Given the description of an element on the screen output the (x, y) to click on. 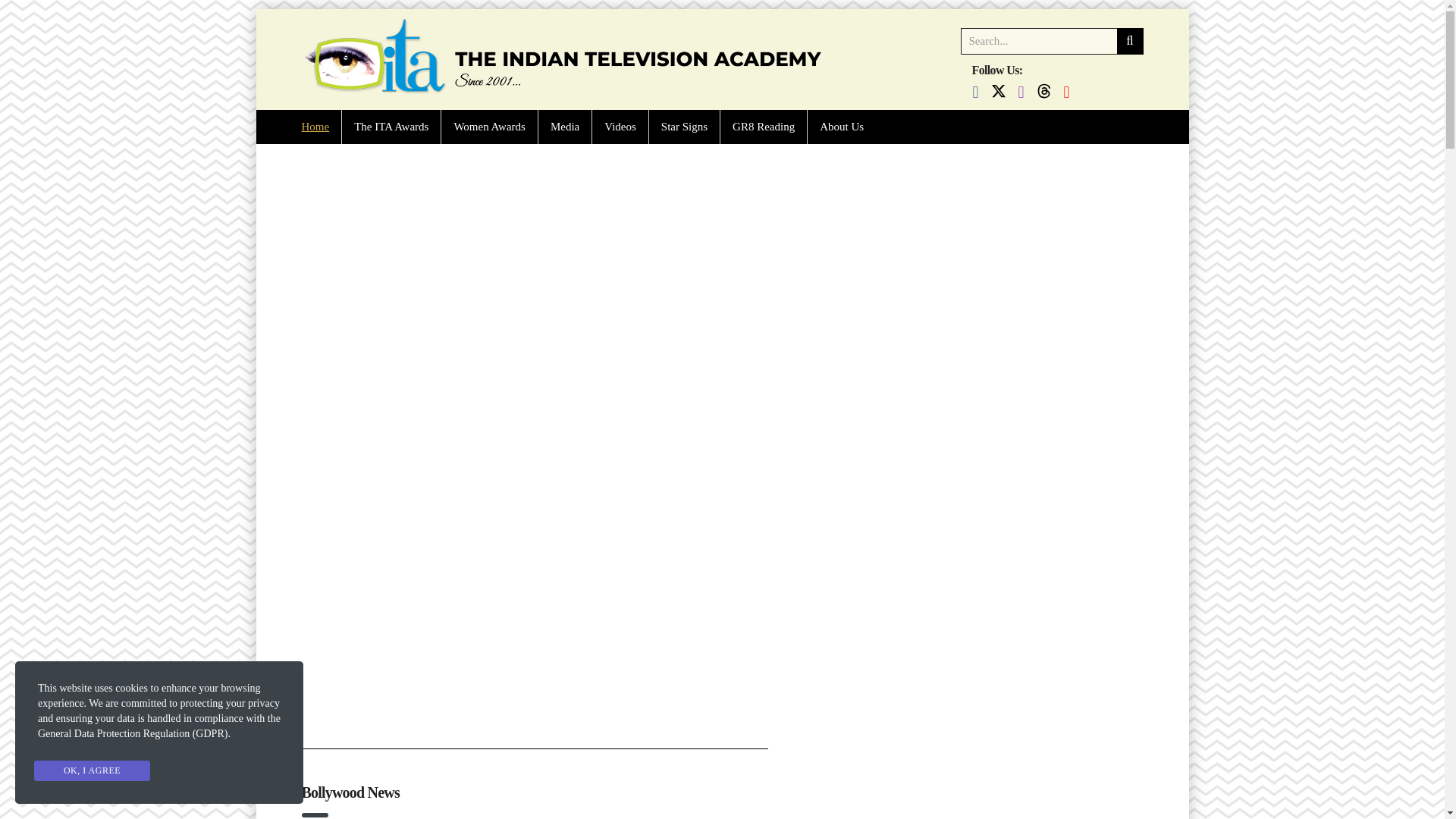
Home (315, 126)
Media (564, 126)
The ITA Awards (391, 126)
Women Awards (489, 126)
